Given the description of an element on the screen output the (x, y) to click on. 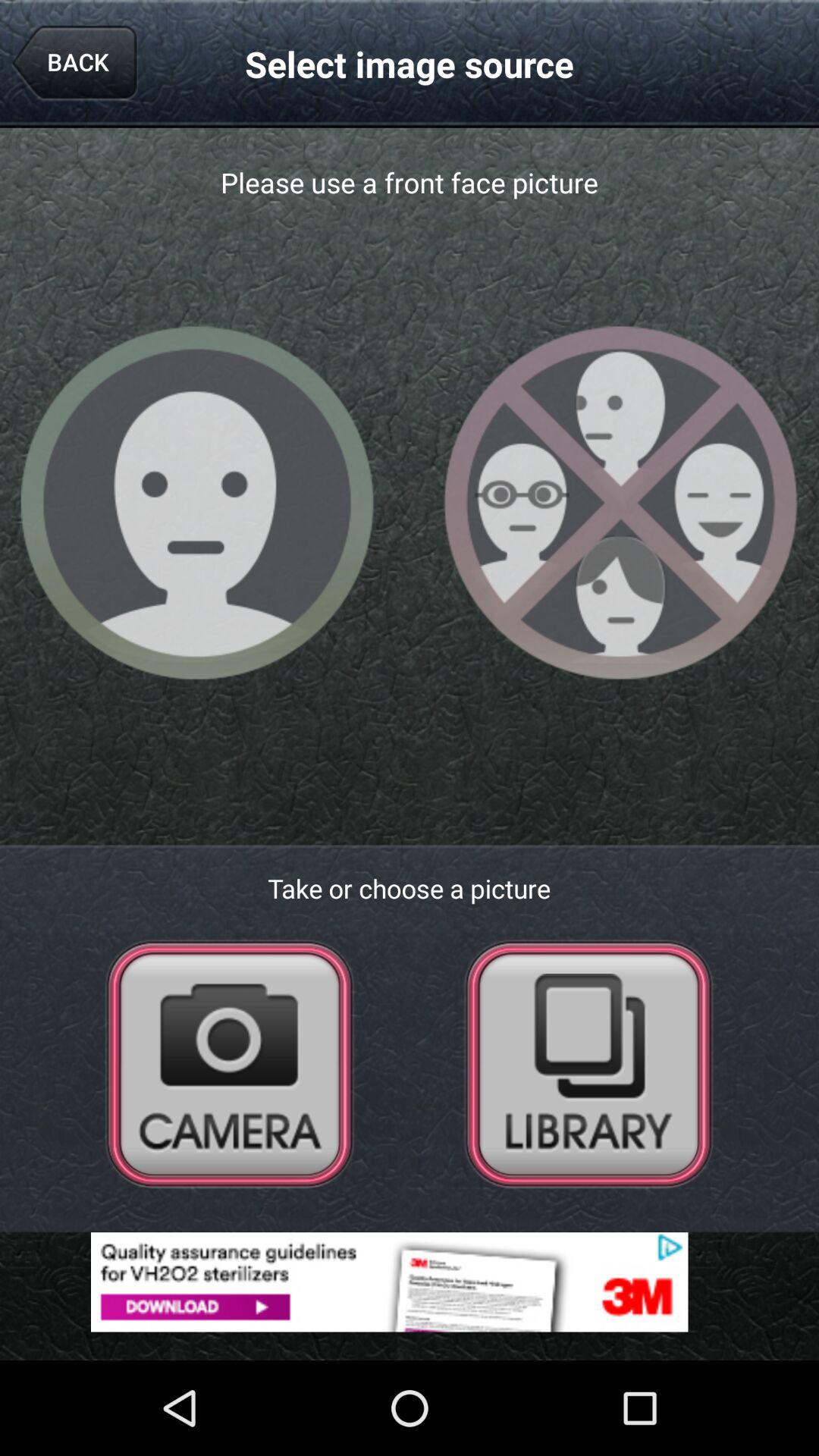
go back (588, 1063)
